Given the description of an element on the screen output the (x, y) to click on. 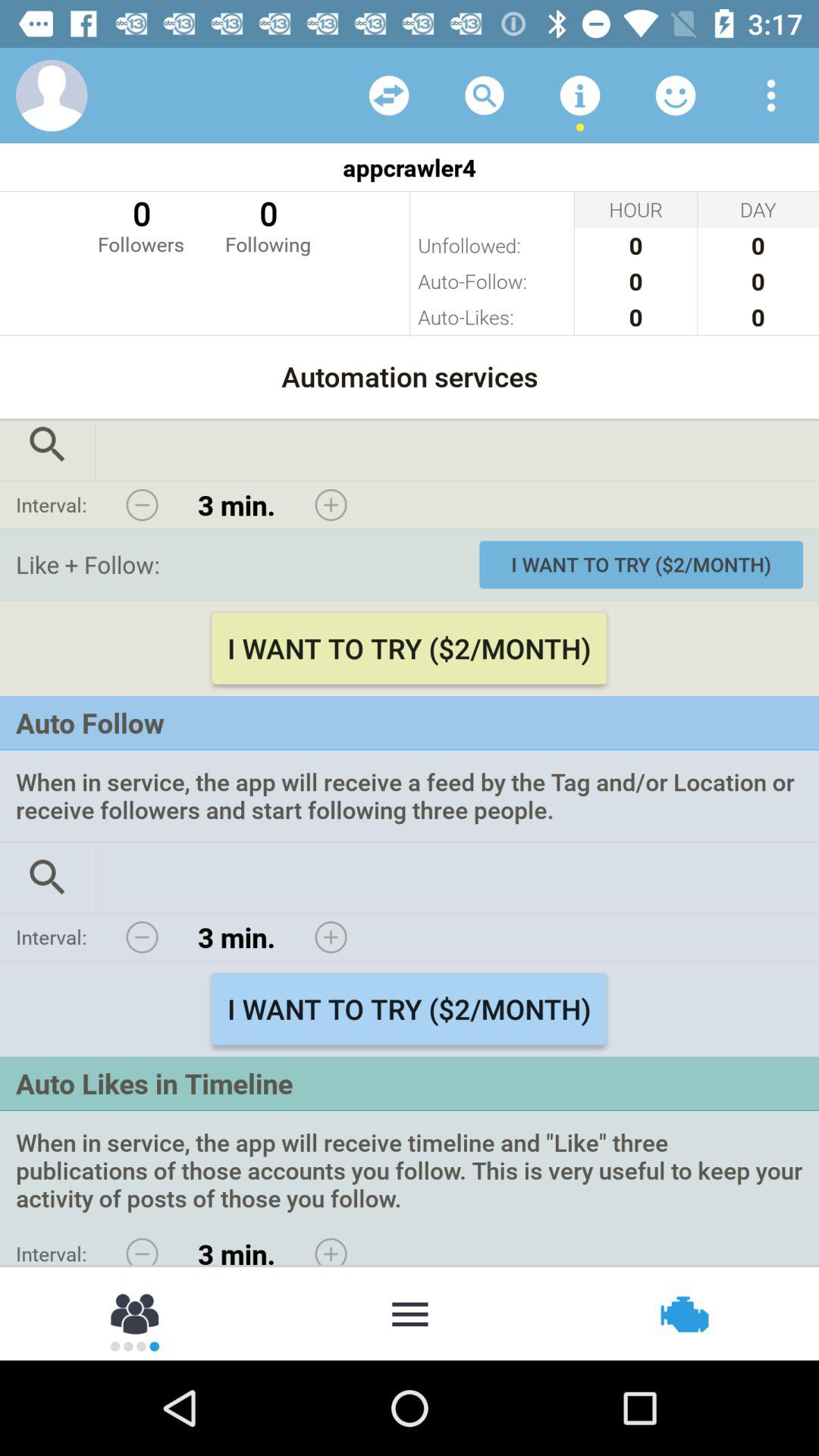
opens menu (771, 95)
